Given the description of an element on the screen output the (x, y) to click on. 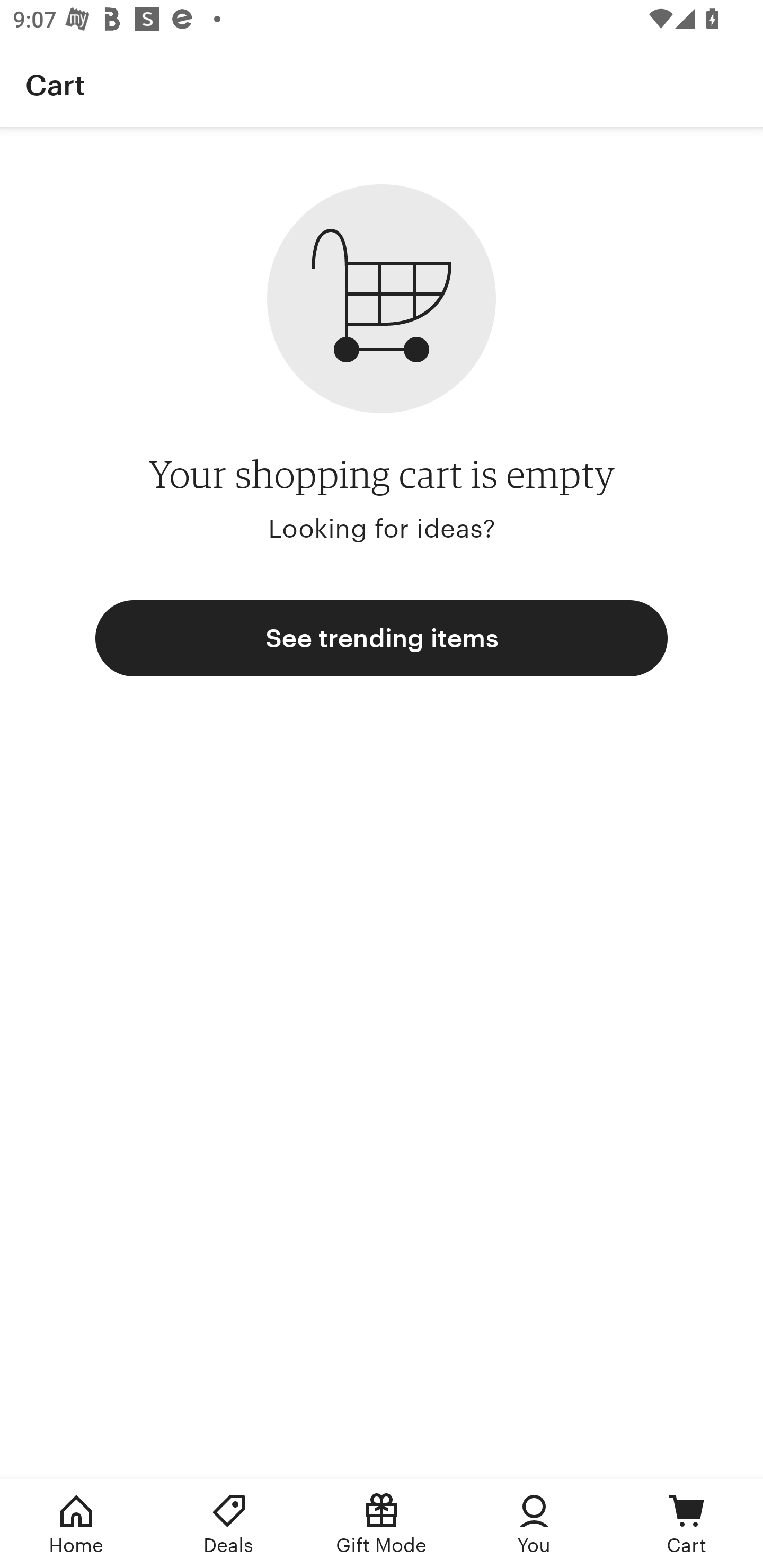
See trending items (381, 637)
Home (76, 1523)
Deals (228, 1523)
Gift Mode (381, 1523)
You (533, 1523)
